Given the description of an element on the screen output the (x, y) to click on. 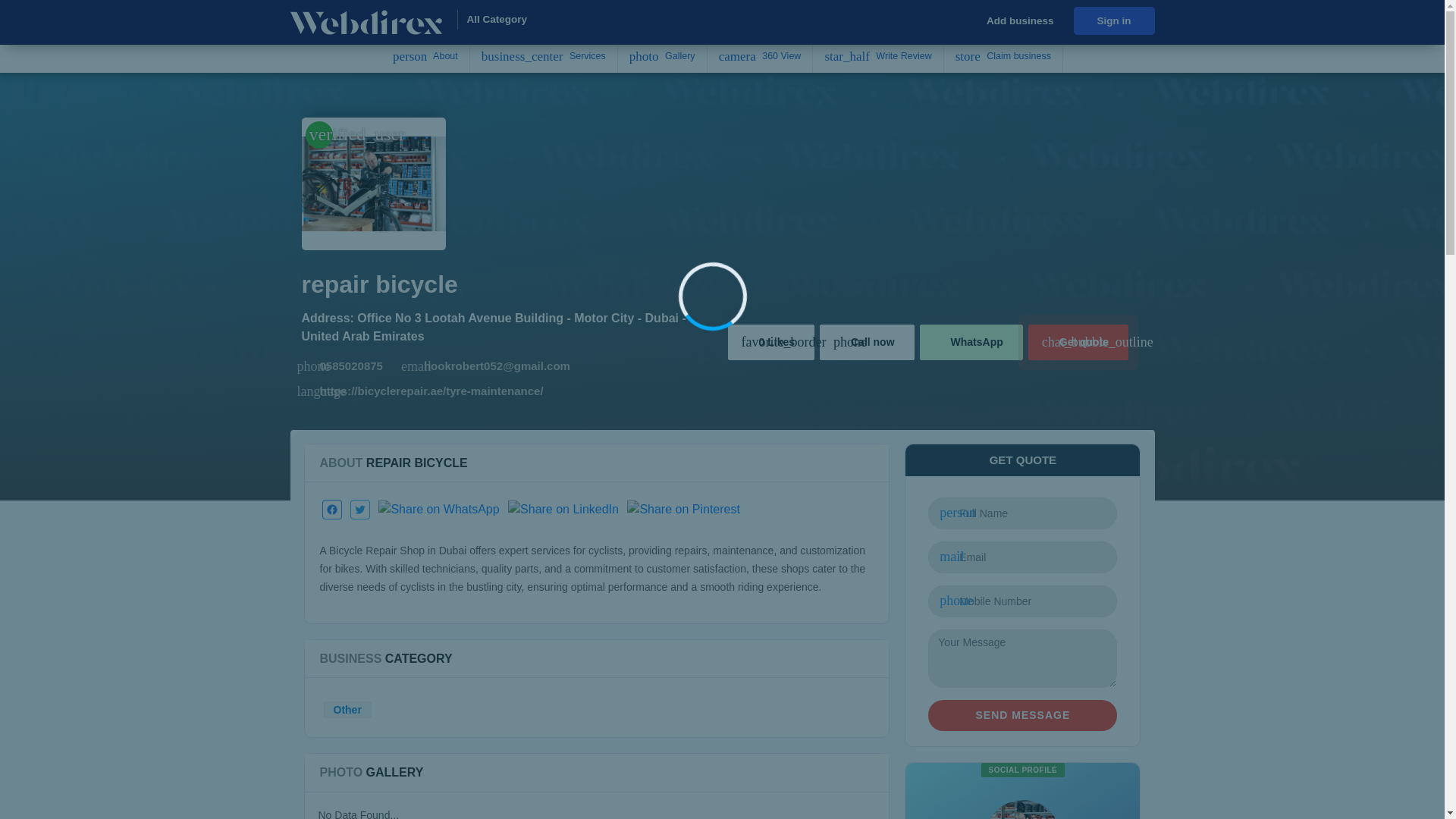
person About (425, 56)
WhatsApp (971, 342)
camera 360 View (760, 56)
Add business (1019, 20)
Share on Facebook (331, 509)
Share on WhatsApp (437, 508)
store Claim business (1002, 56)
Sign in (1114, 20)
Call now (866, 342)
Share on LinkedIn (563, 508)
